Given the description of an element on the screen output the (x, y) to click on. 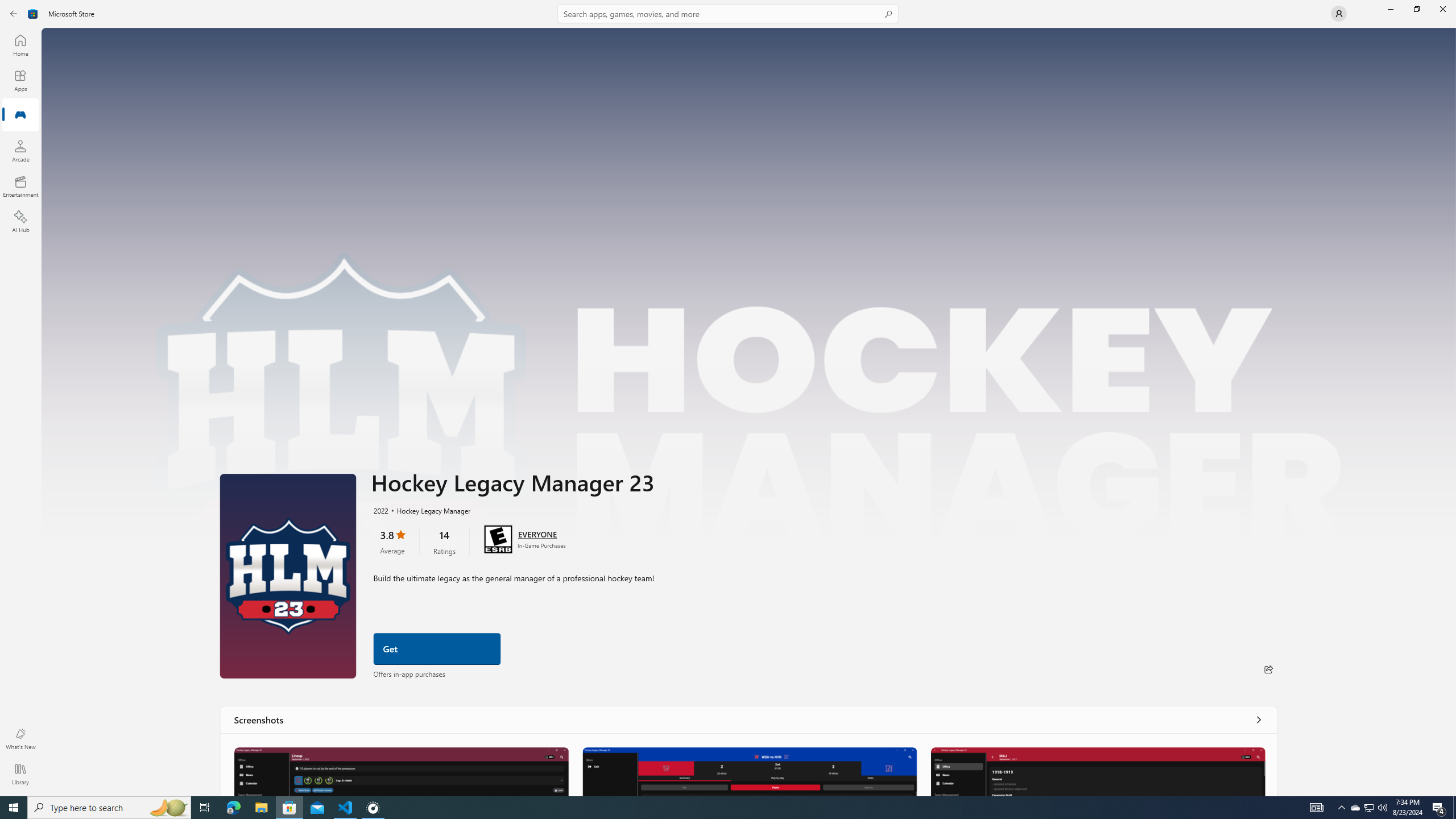
2022 (379, 510)
User profile (1338, 13)
Class: Image (32, 13)
Share (1267, 669)
Gaming (20, 115)
Library (20, 773)
Entertainment (20, 185)
Restore Microsoft Store (1416, 9)
Screenshot 1 (400, 771)
Screenshot 3 (1097, 771)
AutomationID: NavigationControl (728, 398)
